Given the description of an element on the screen output the (x, y) to click on. 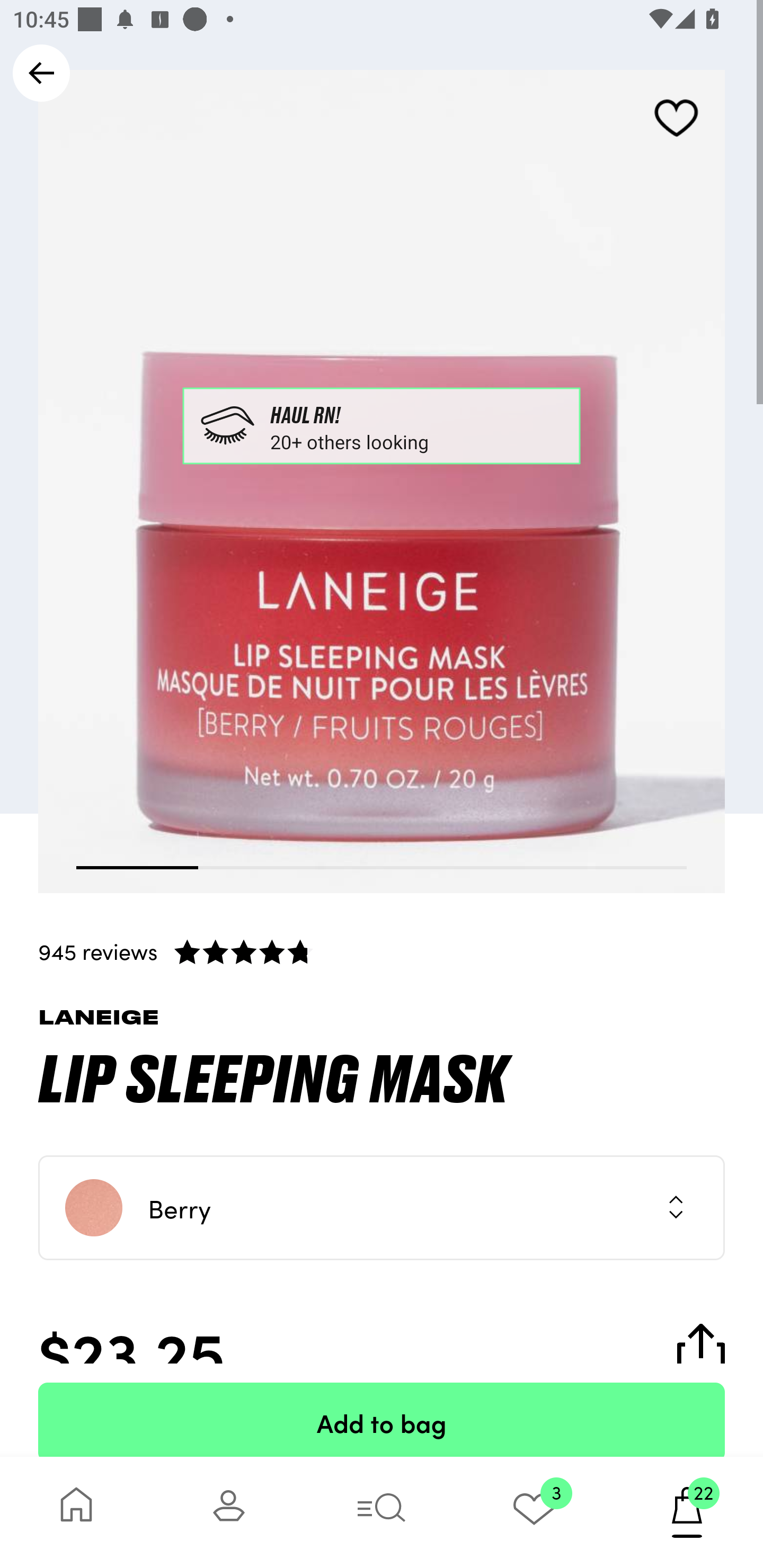
945 reviews (381, 950)
Berry  (381, 1207)
Add to bag (381, 1419)
3 (533, 1512)
22 (686, 1512)
